Given the description of an element on the screen output the (x, y) to click on. 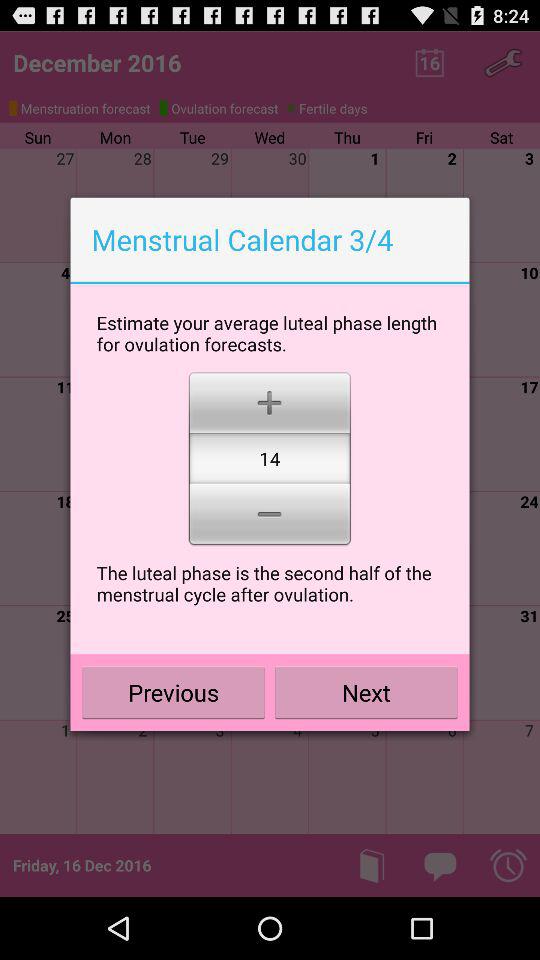
scroll until the previous item (173, 692)
